Given the description of an element on the screen output the (x, y) to click on. 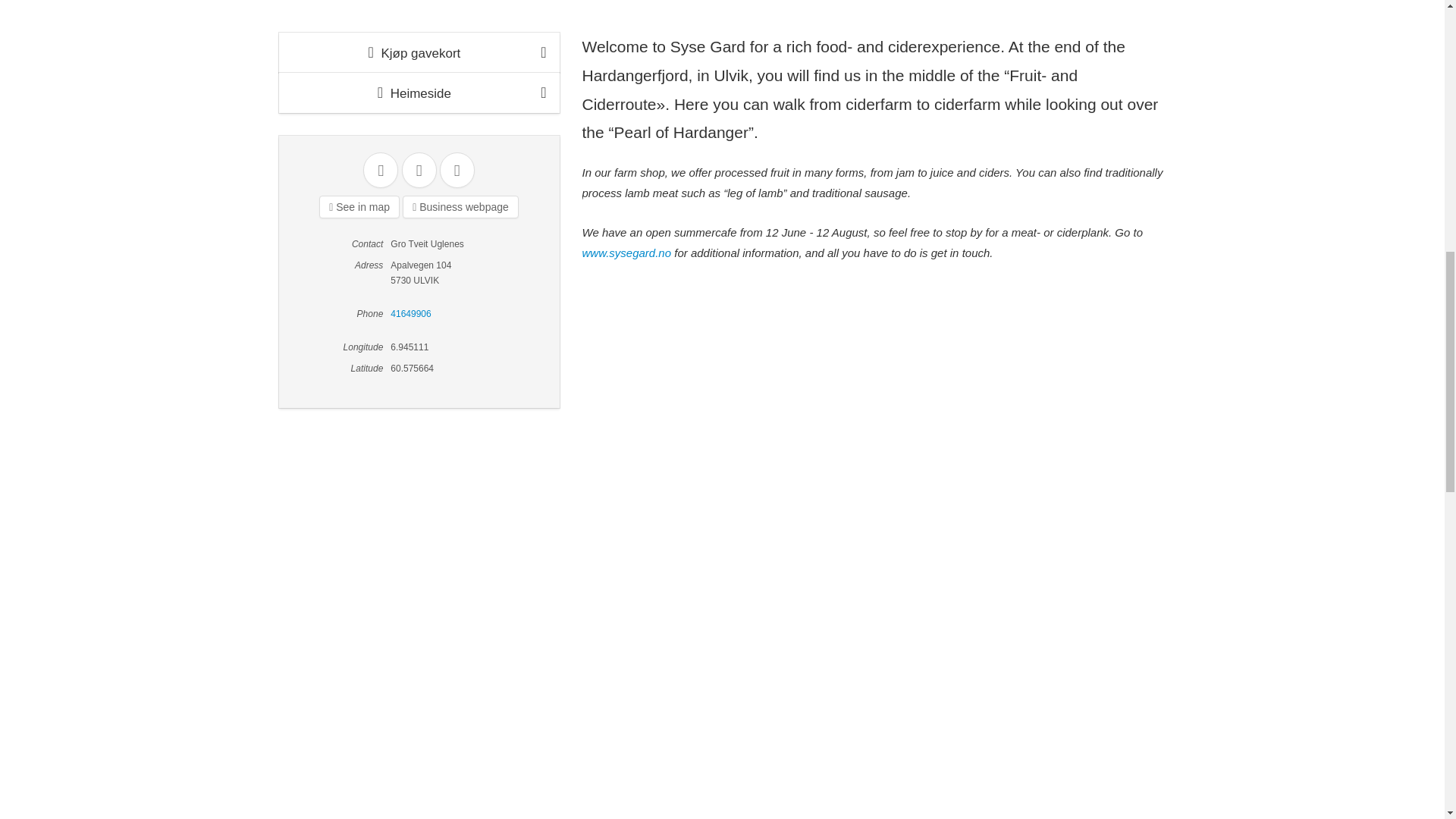
Visit our website (460, 206)
Send us a message (456, 170)
Heimeside (419, 92)
